Given the description of an element on the screen output the (x, y) to click on. 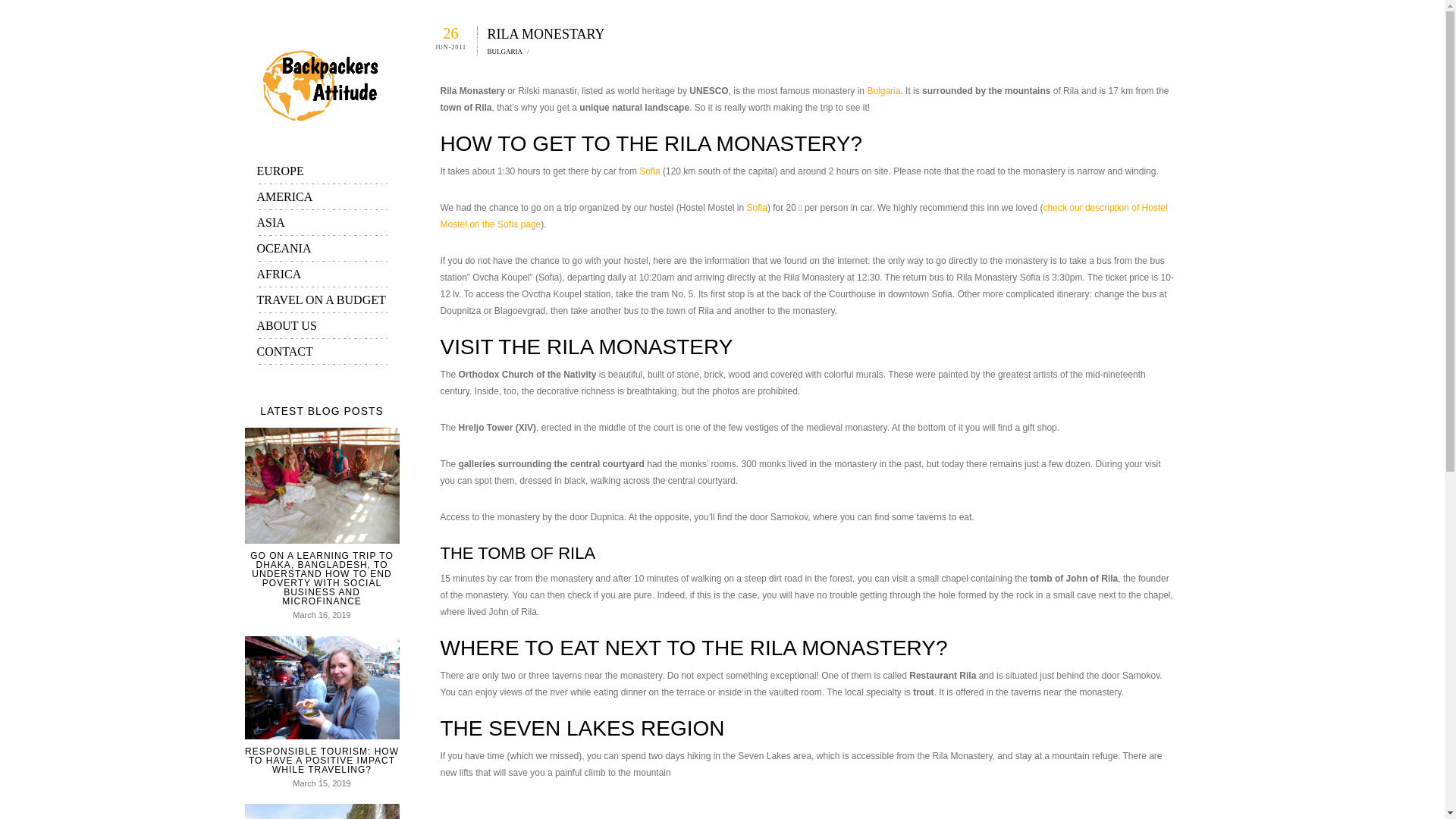
Sofia (803, 216)
Advertisement (807, 809)
CONTACT (321, 351)
Bulgarie (882, 90)
AMERICA (321, 196)
ASIA (321, 222)
Sofia (756, 207)
OCEANIA (321, 248)
AFRICA (321, 274)
EUROPE (321, 171)
Sofia (650, 171)
ABOUT US (321, 325)
View all posts in Bulgaria (503, 51)
